Given the description of an element on the screen output the (x, y) to click on. 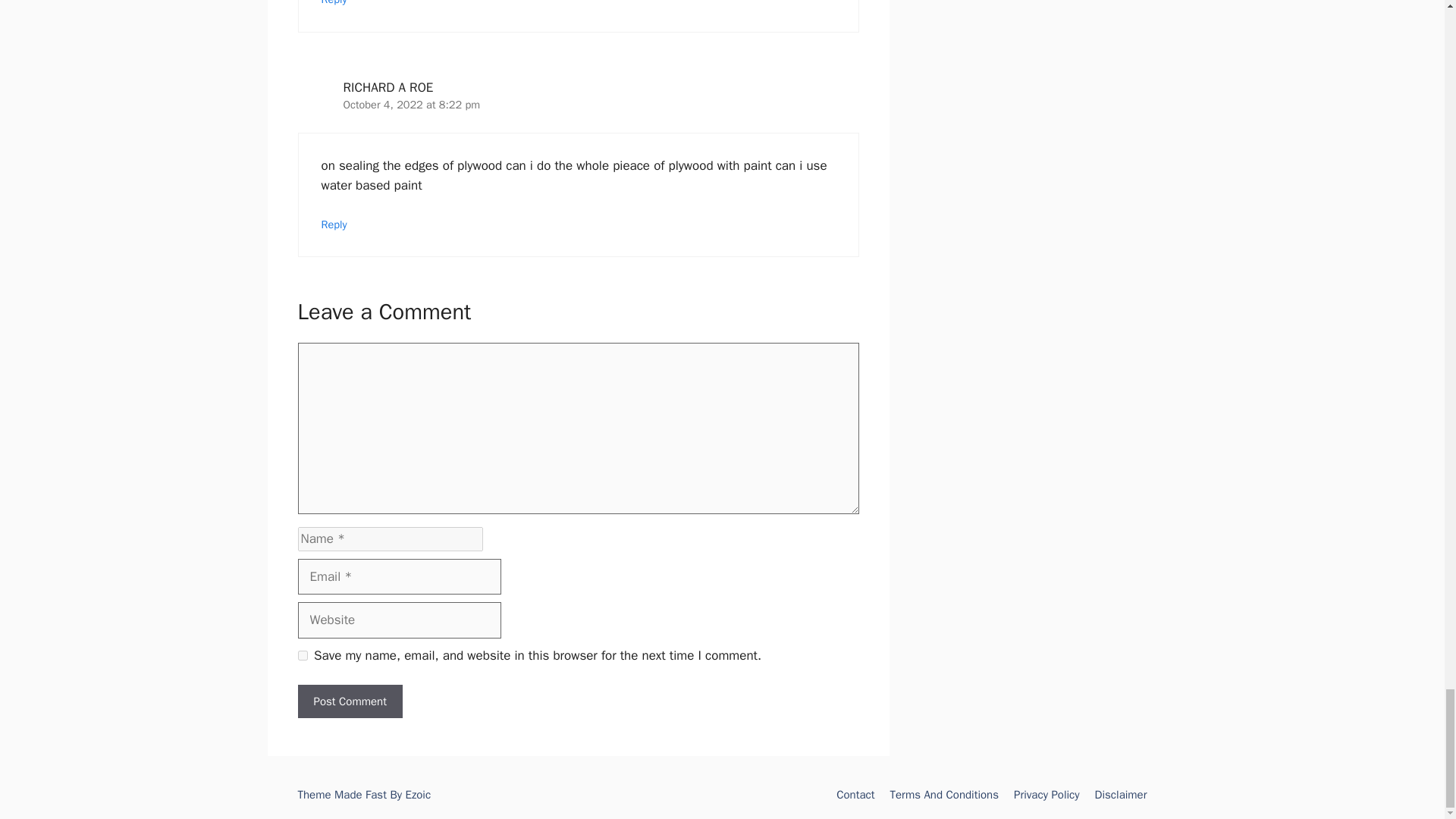
Post Comment (349, 701)
October 4, 2022 at 8:22 pm (411, 104)
Disclaimer (1120, 794)
Privacy Policy (1046, 794)
Terms And Conditions (943, 794)
Post Comment (349, 701)
Reply (334, 2)
Reply (334, 223)
Contact (855, 794)
yes (302, 655)
